Given the description of an element on the screen output the (x, y) to click on. 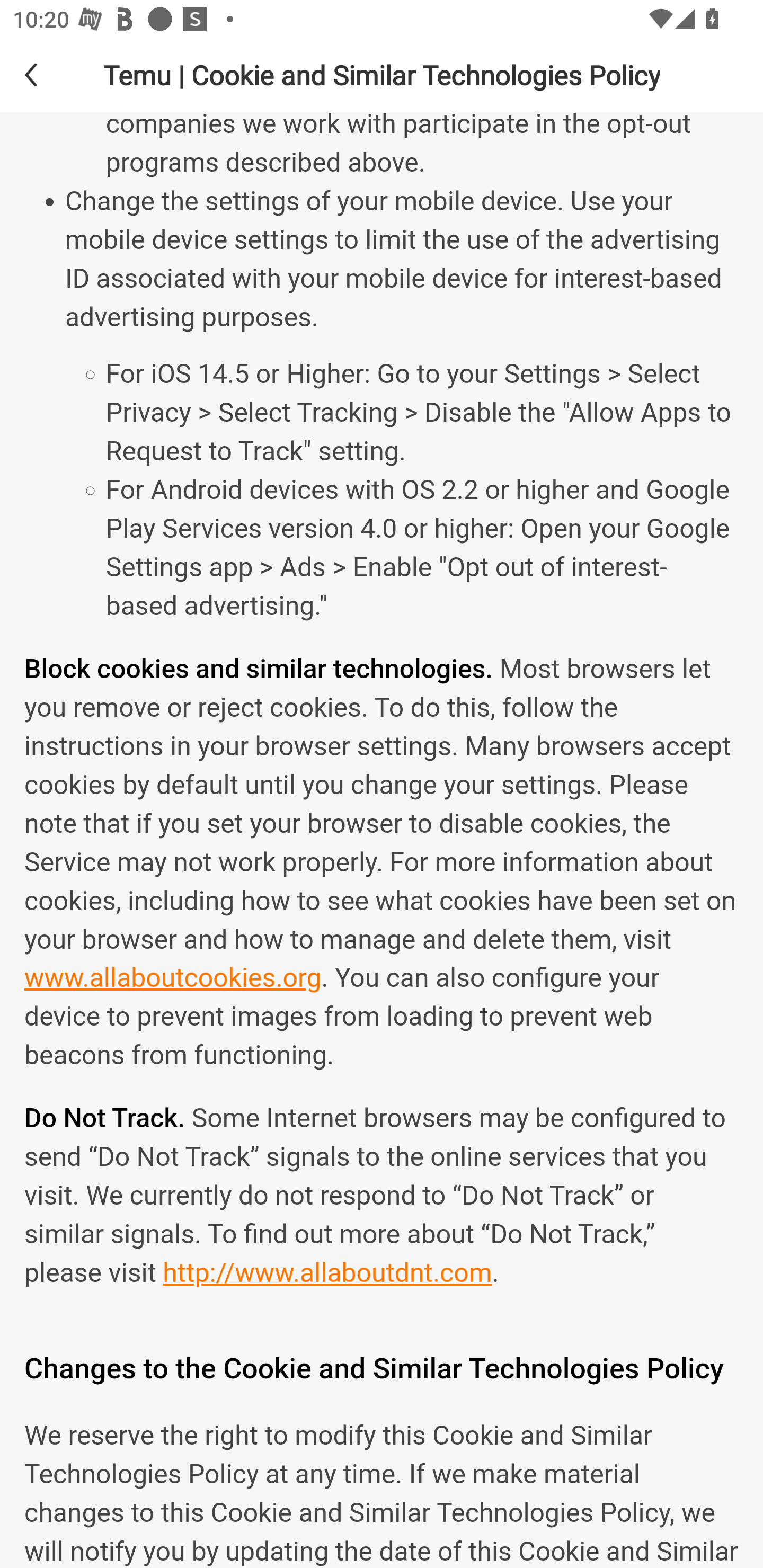
Back back (46, 74)
www.allaboutcookies.org (172, 978)
http://www.allaboutdnt.com (326, 1274)
